Given the description of an element on the screen output the (x, y) to click on. 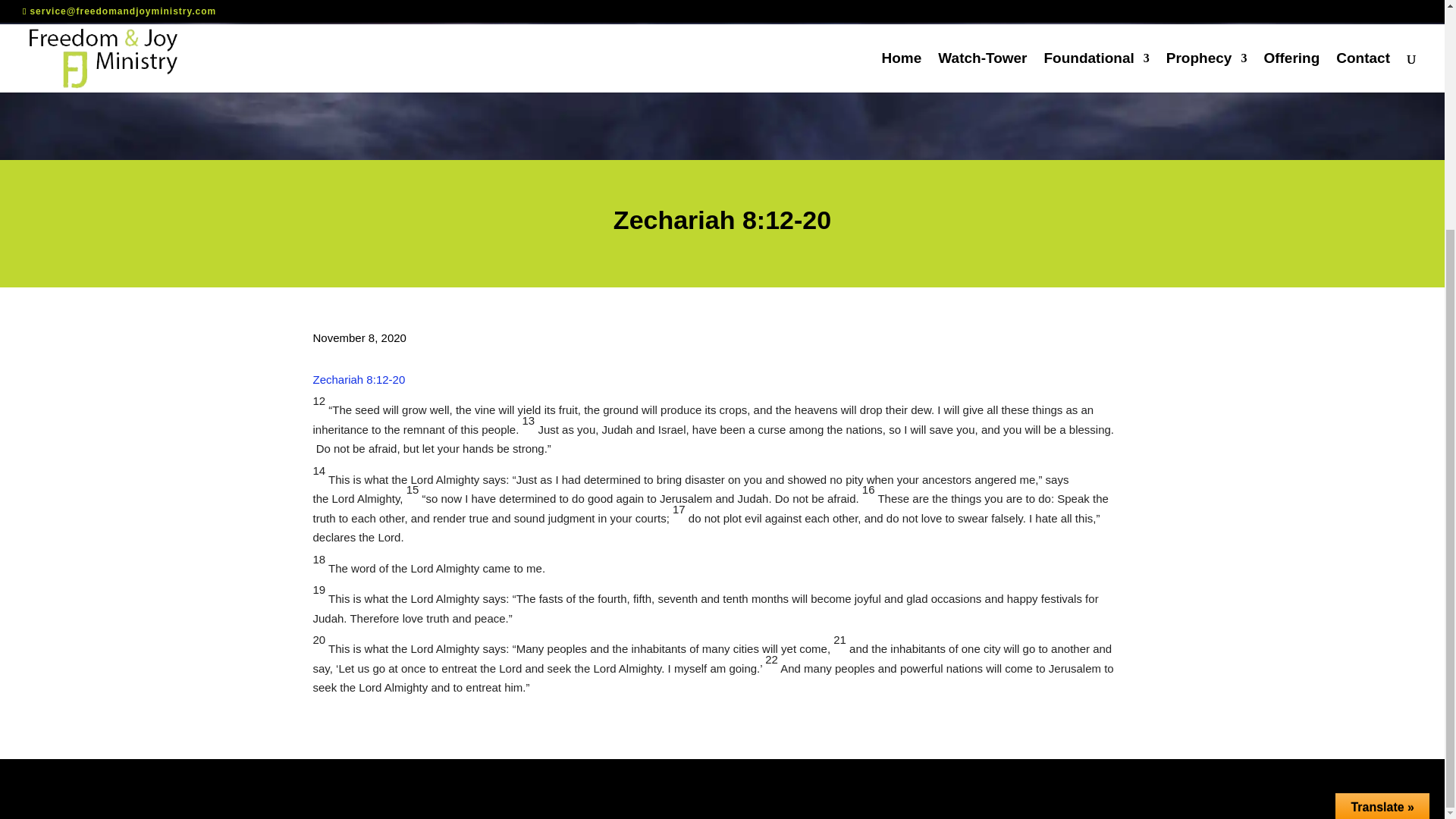
Zechariah 8:12-20 (358, 379)
